Given the description of an element on the screen output the (x, y) to click on. 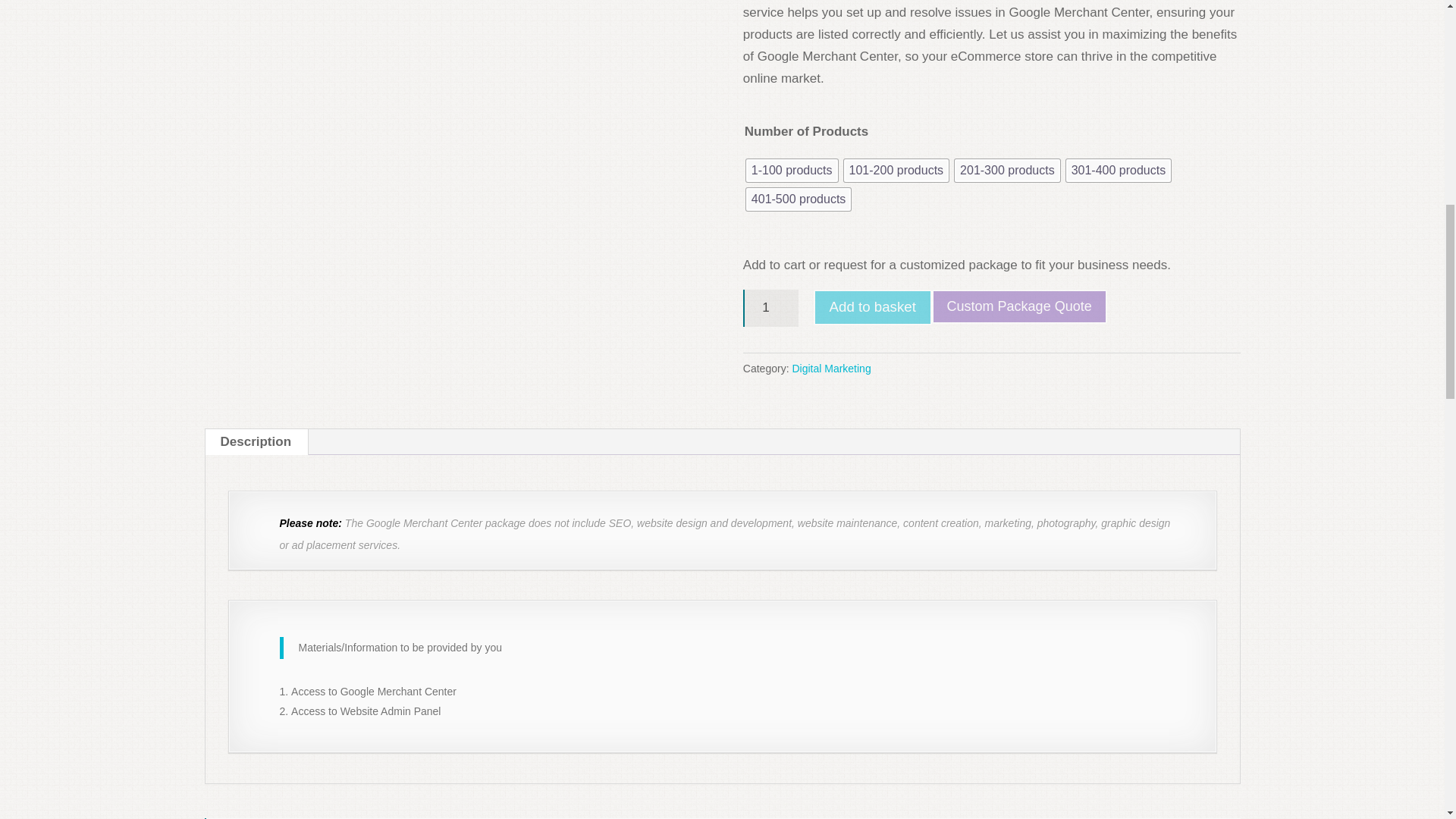
1 (769, 307)
